Given the description of an element on the screen output the (x, y) to click on. 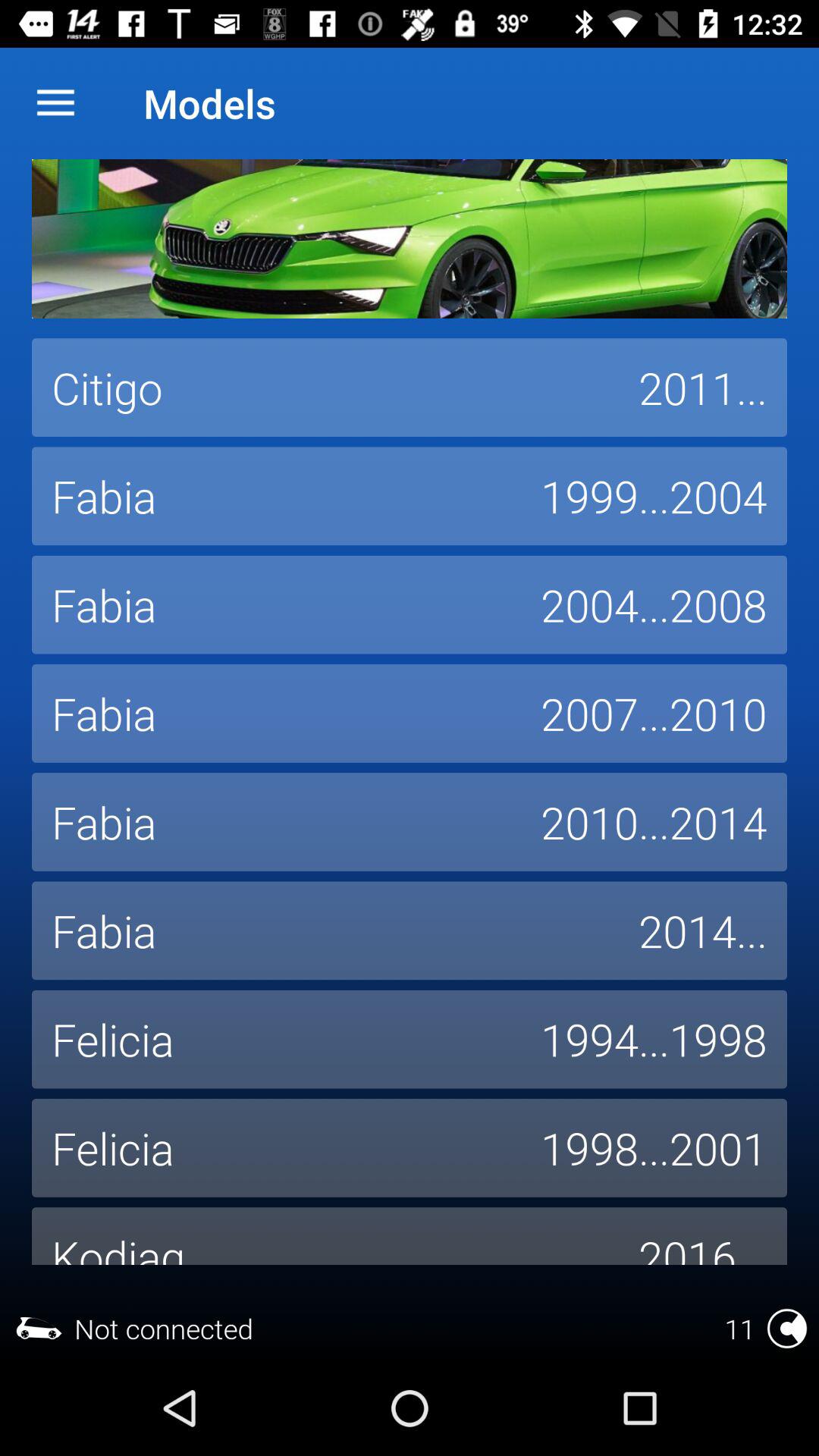
select the item below felicia (324, 1235)
